Given the description of an element on the screen output the (x, y) to click on. 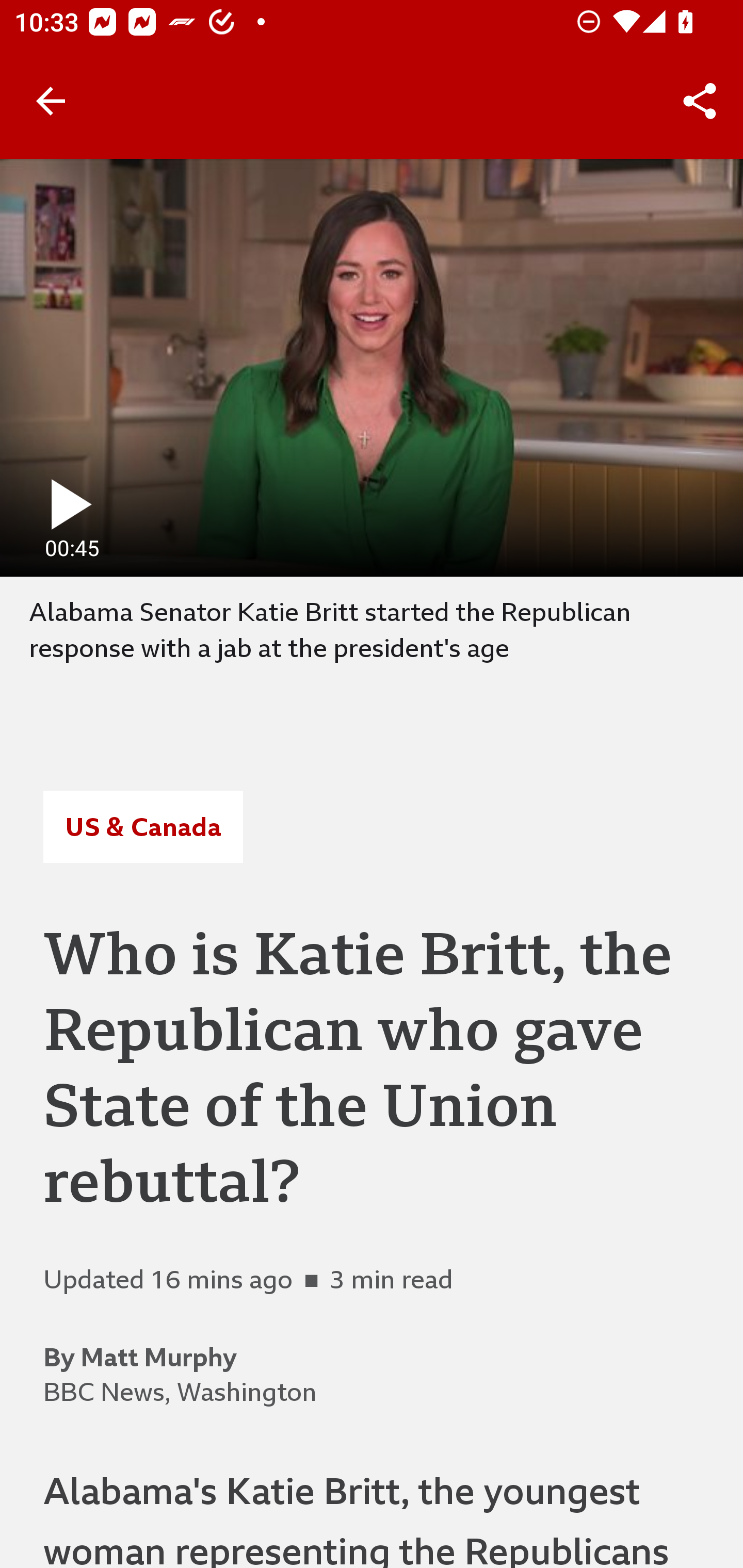
Back (50, 101)
Share (699, 101)
play fullscreen 00:45 0 minutes, 45 seconds (371, 367)
US & Canada (142, 827)
